Given the description of an element on the screen output the (x, y) to click on. 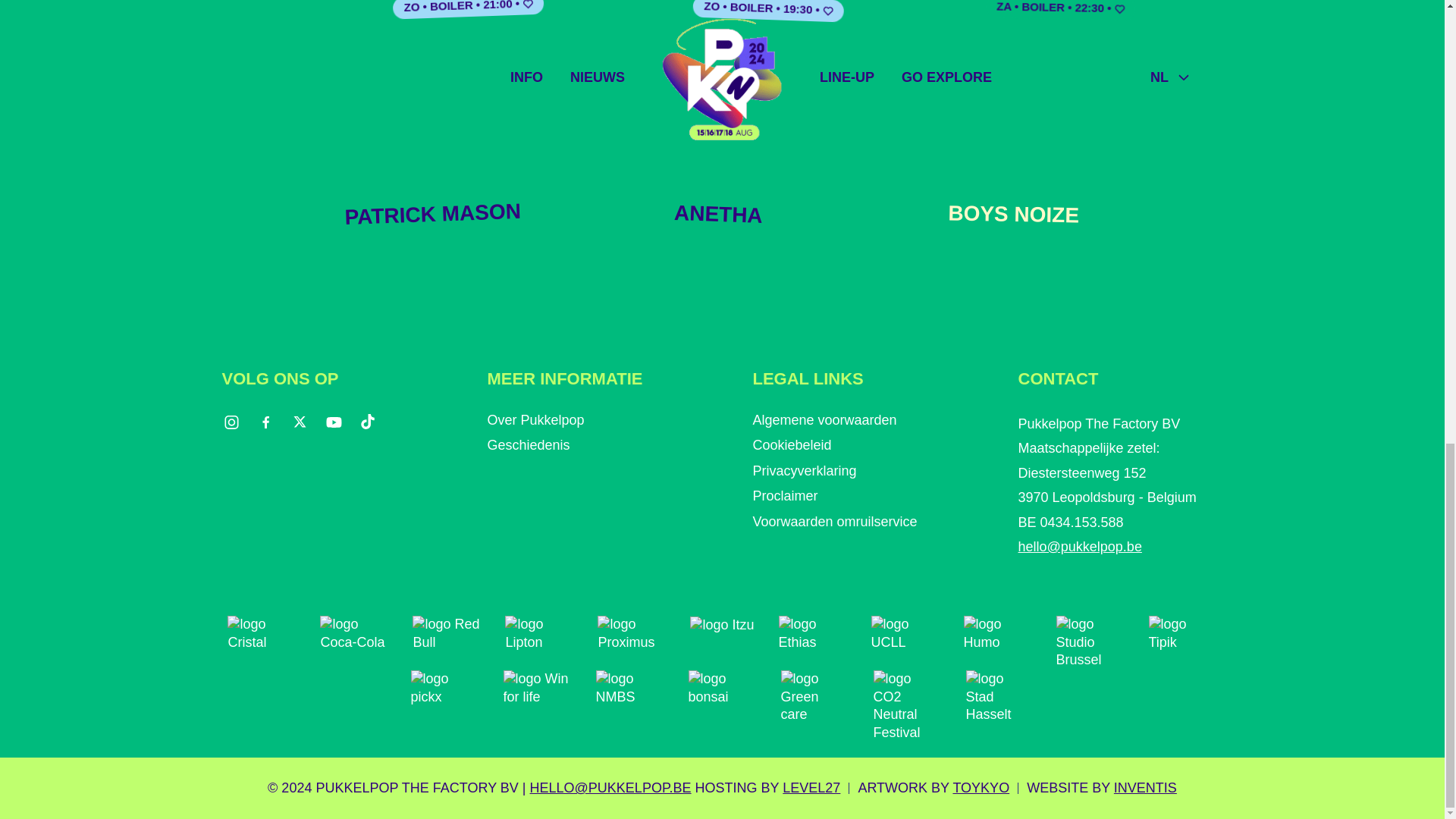
Itzu (722, 630)
Humo (997, 630)
UCLL (904, 630)
Proximus (630, 630)
Red Bull (446, 630)
Lipton (539, 630)
Markeer als favoriet (527, 5)
Coca-Cola (354, 630)
Ethias (812, 630)
Cristal (261, 630)
